Given the description of an element on the screen output the (x, y) to click on. 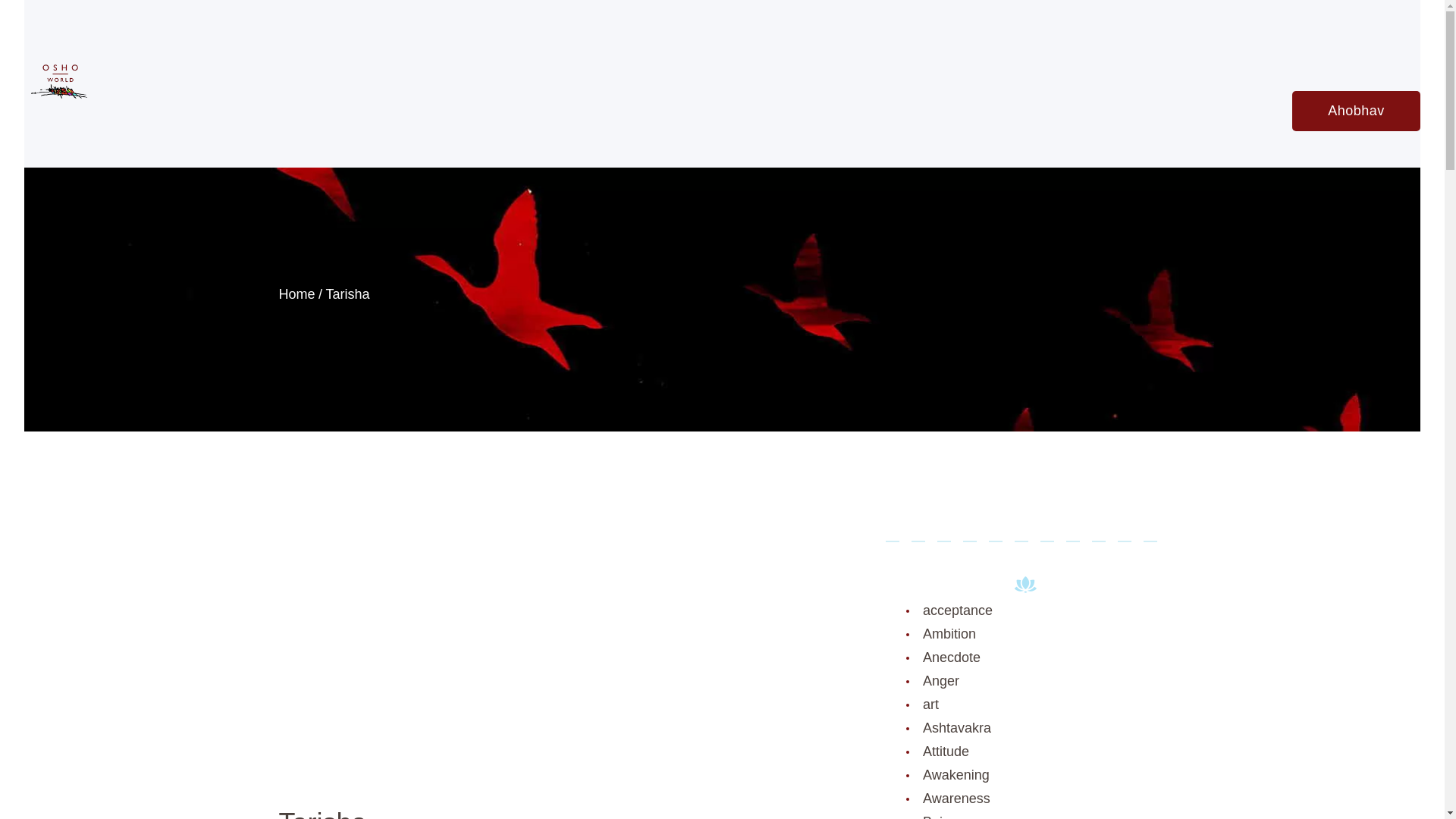
Home (297, 293)
Ahobhav (1355, 110)
Advertisement (571, 662)
